Given the description of an element on the screen output the (x, y) to click on. 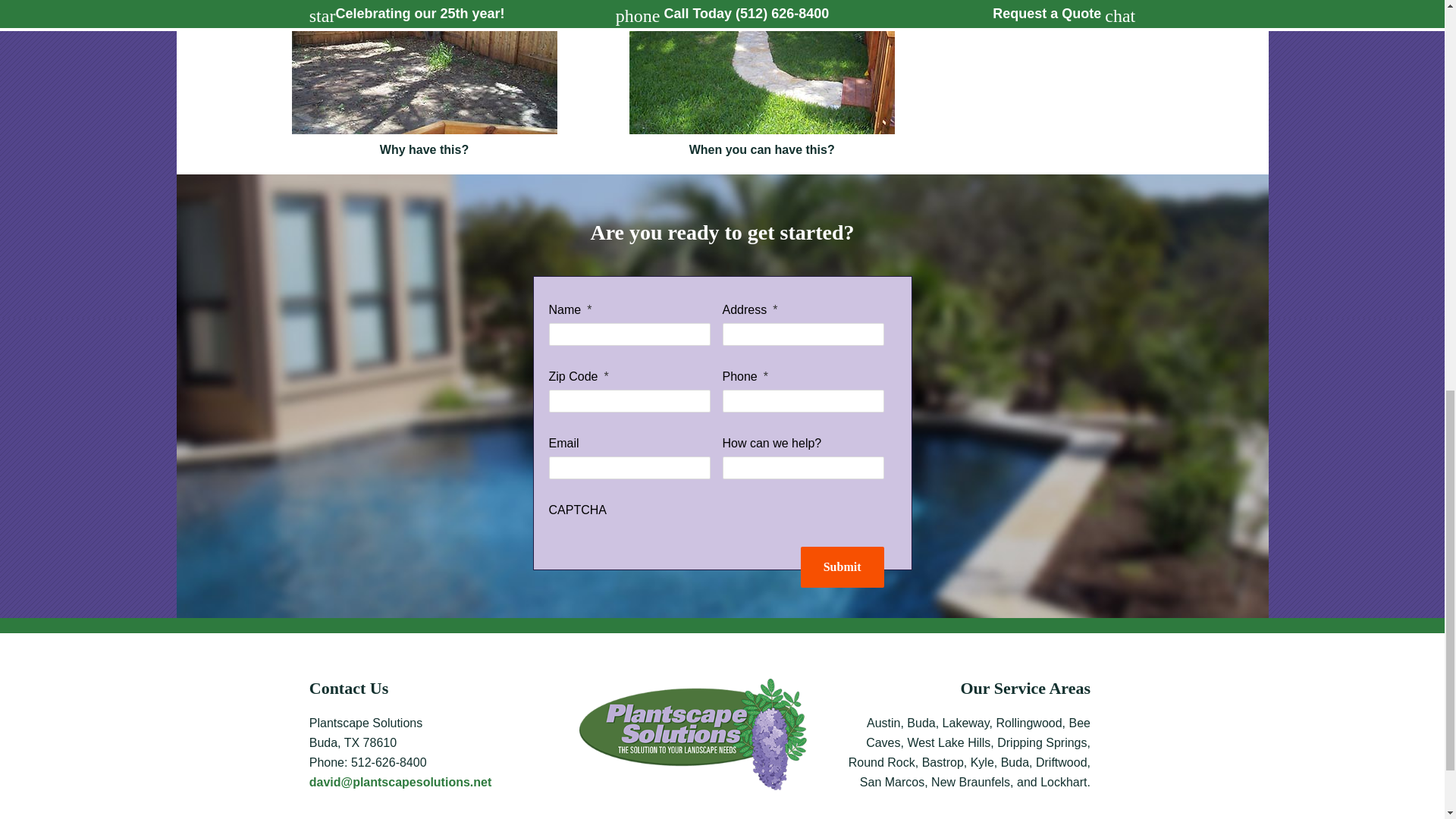
Submit (841, 567)
